Given the description of an element on the screen output the (x, y) to click on. 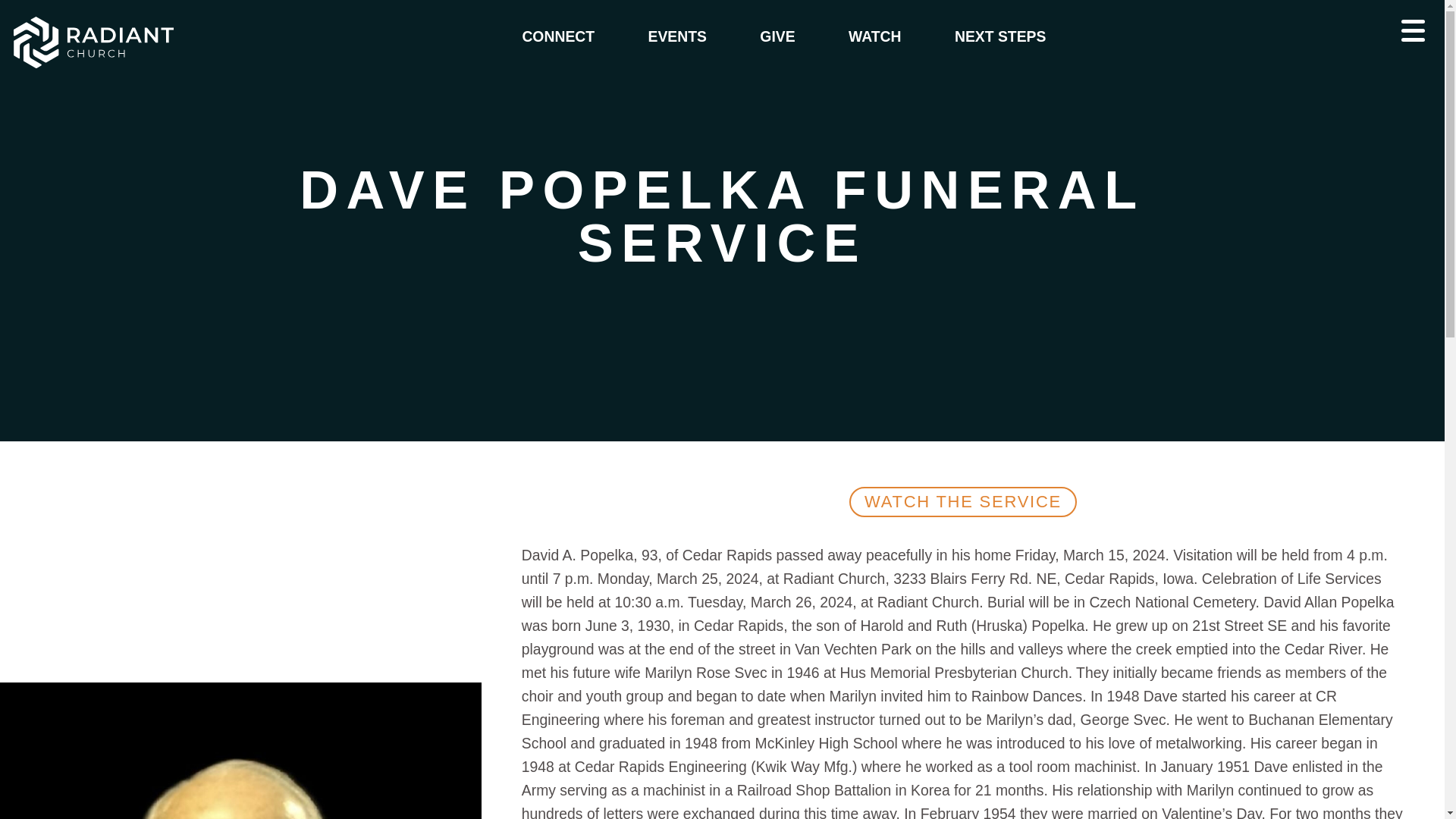
CONNECT (558, 36)
EVENTS (677, 36)
WATCH (874, 36)
GIVE (777, 36)
NEXT STEPS (999, 36)
WATCH THE SERVICE (961, 501)
